Given the description of an element on the screen output the (x, y) to click on. 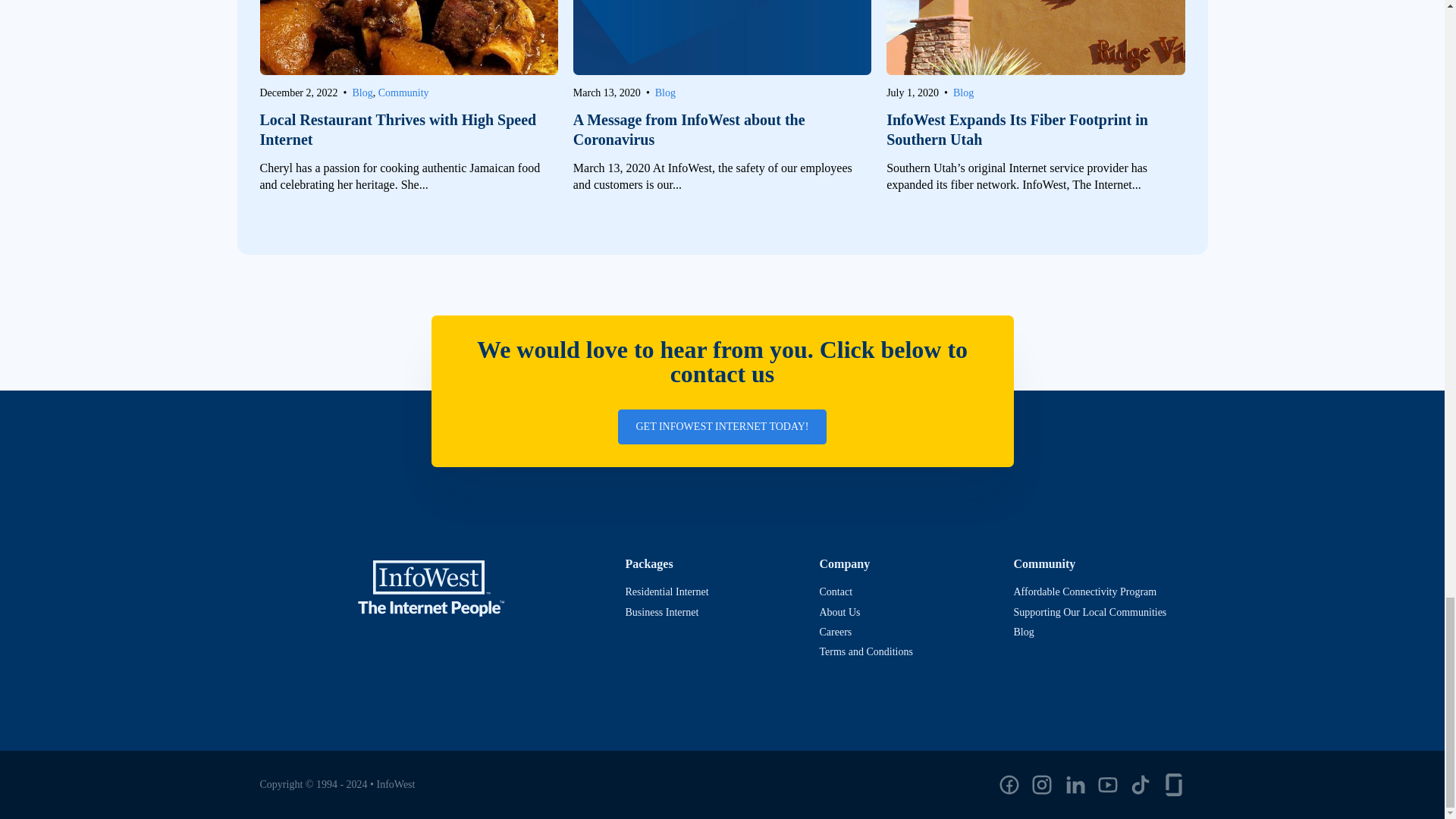
facebook icon (1008, 784)
Local Restaurant Thrives with High Speed Internet (408, 129)
YouTube icon (1107, 784)
Community (403, 91)
instagram icon (1041, 784)
Blog (362, 91)
Glassdoor icon (1173, 784)
Tiktok icon (1140, 784)
InfoWest - The Internet People (430, 588)
LinkedIn icon (1075, 784)
